Given the description of an element on the screen output the (x, y) to click on. 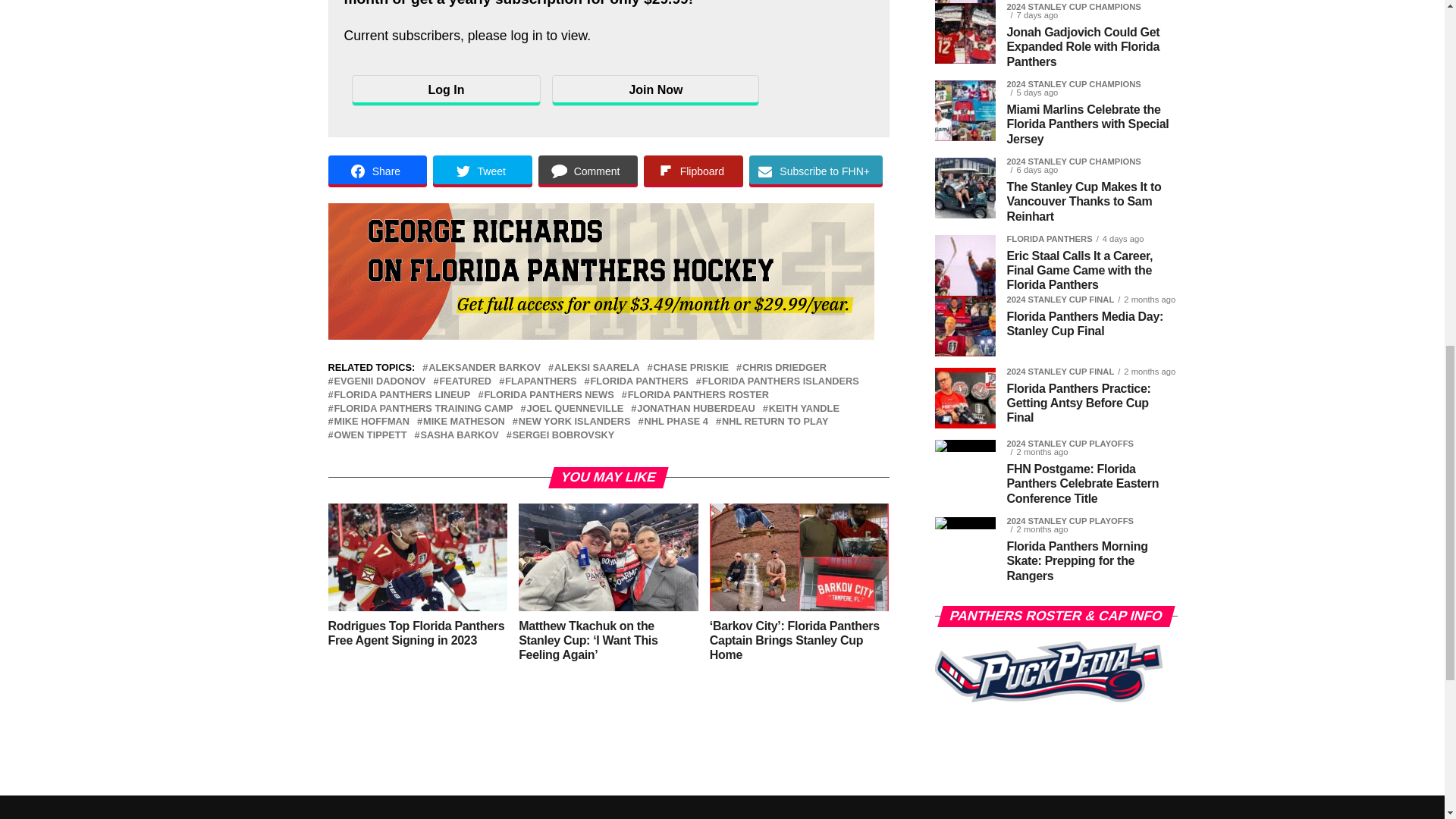
Share on Flipboard (692, 171)
Share on Tweet (482, 171)
Share on Comment (587, 171)
Share on Share (376, 171)
